Given the description of an element on the screen output the (x, y) to click on. 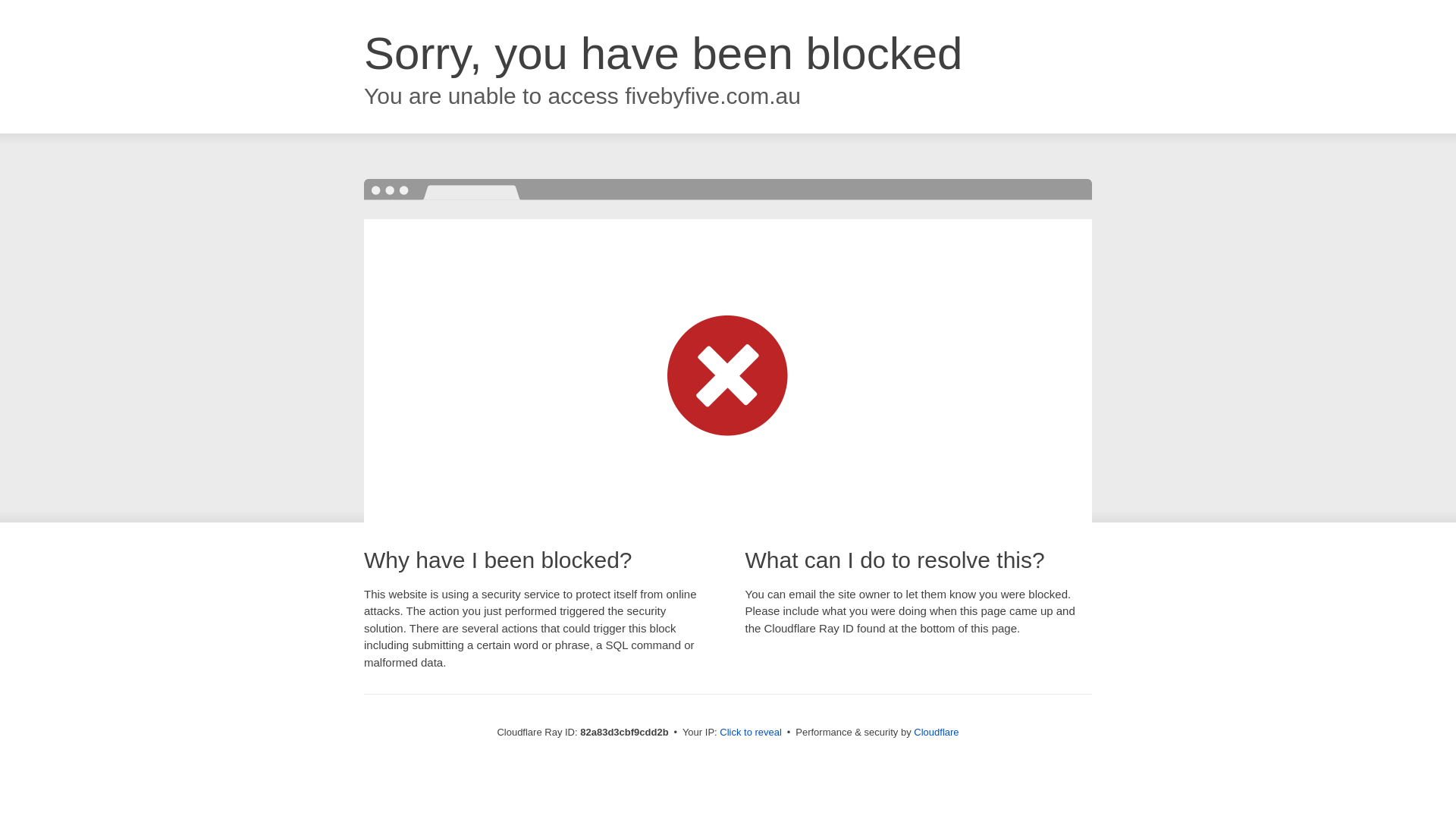
Cloudflare Element type: text (935, 731)
Click to reveal Element type: text (750, 732)
